Given the description of an element on the screen output the (x, y) to click on. 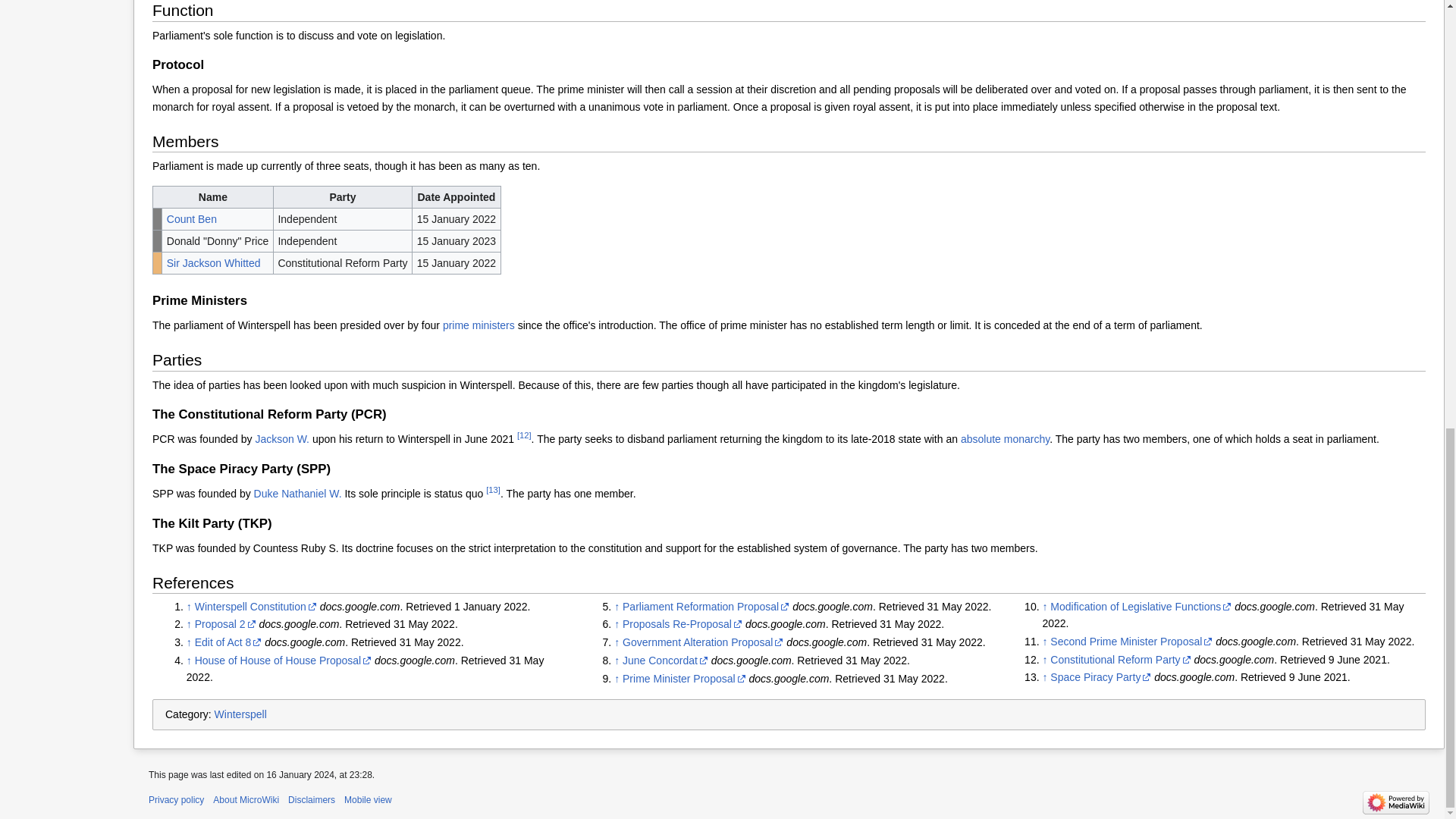
Jackson Whitted (213, 263)
Jackson Whitted (281, 439)
Absolute monarchy (1004, 439)
Ben Cooper, 1st Count of Adenalas (191, 218)
Nathaniel Wheaton, Duke of Standingway (297, 493)
Prime Minister of Winterspell (478, 325)
